Given the description of an element on the screen output the (x, y) to click on. 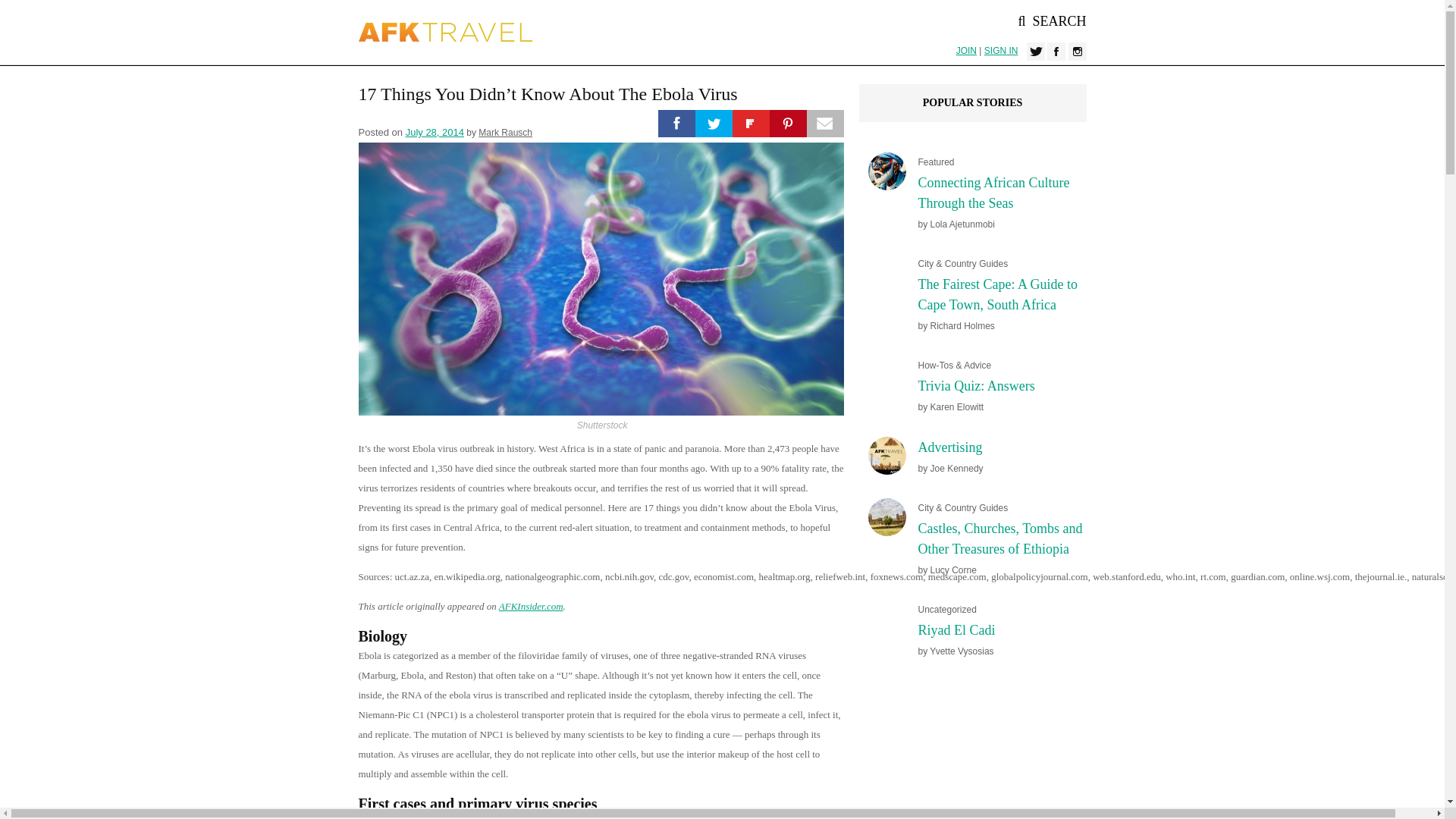
Trivia Quiz: Answers (975, 385)
Riyad El Cadi (955, 630)
Advertising (949, 447)
Castles, Churches, Tombs and Other Treasures of Ethiopia (999, 538)
  SEARCH (1051, 21)
AFKInsider.com (531, 605)
SIGN IN (1000, 50)
JOIN (966, 50)
Mark Rausch (505, 132)
AFKTravel (445, 31)
July 28, 2014 (435, 132)
The Fairest Cape: A Guide to Cape Town, South Africa (997, 294)
Connecting African Culture Through the Seas (992, 193)
